Given the description of an element on the screen output the (x, y) to click on. 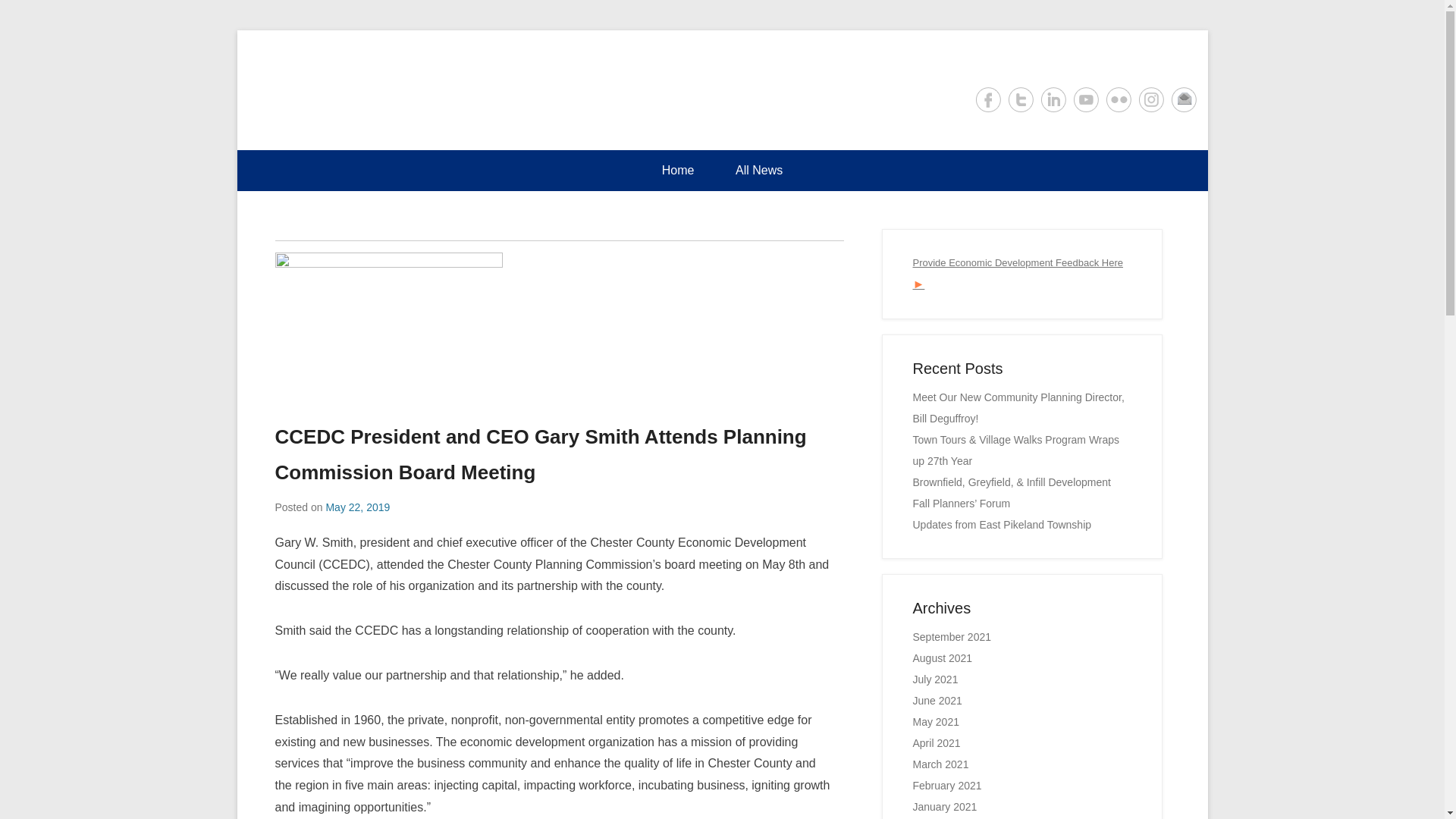
July 2021 (935, 679)
Twitter (1021, 99)
August 2021 (942, 657)
Meet Our New Community Planning Director, Bill Deguffroy! (1018, 408)
Email (1182, 99)
Flickr (1118, 99)
1:54 PM (357, 507)
Instagram (1150, 99)
April 2021 (936, 743)
Instagram (1150, 99)
Email (1182, 99)
May 2021 (935, 721)
Home (678, 169)
